Given the description of an element on the screen output the (x, y) to click on. 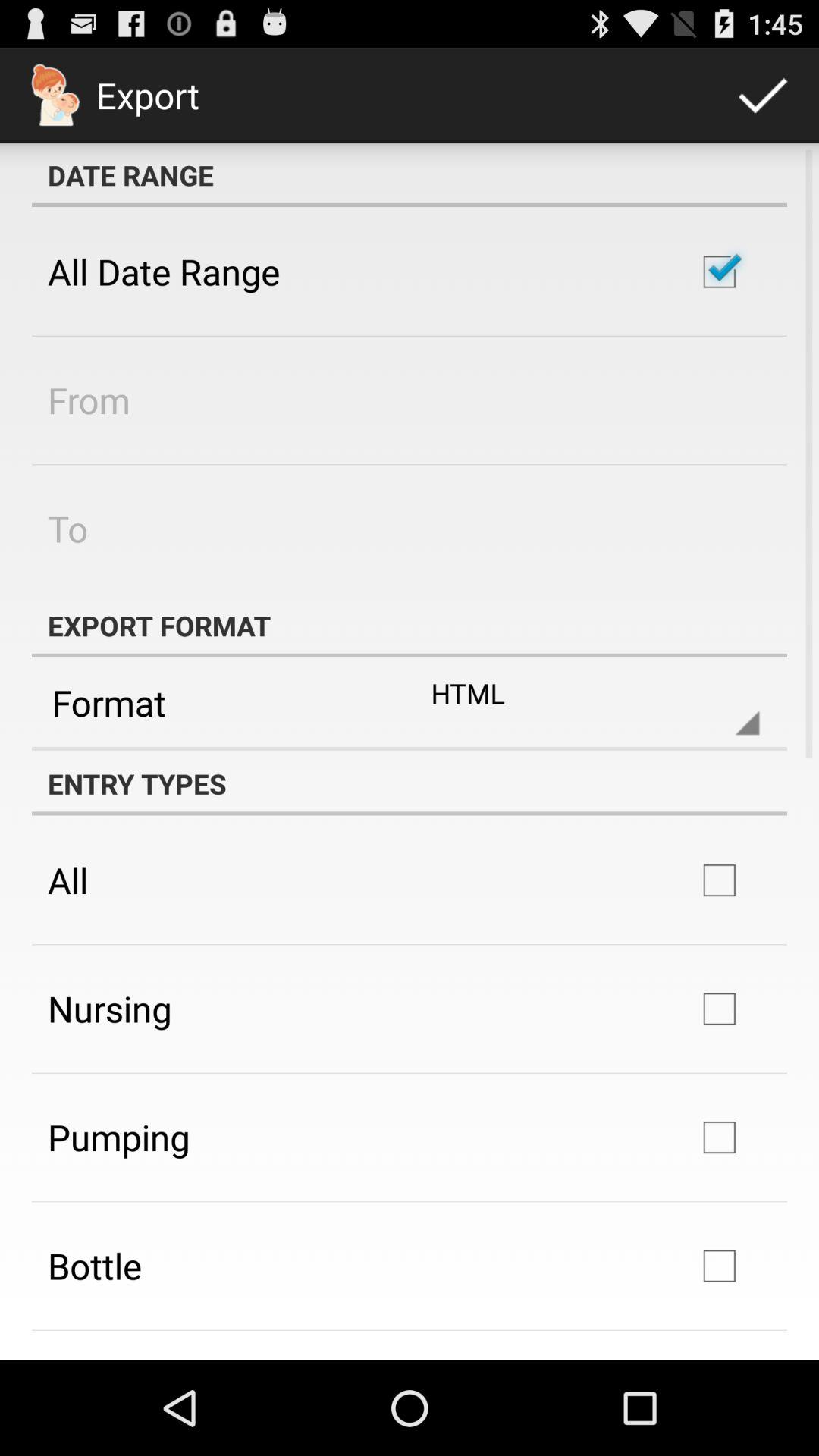
jump until html item (583, 702)
